Given the description of an element on the screen output the (x, y) to click on. 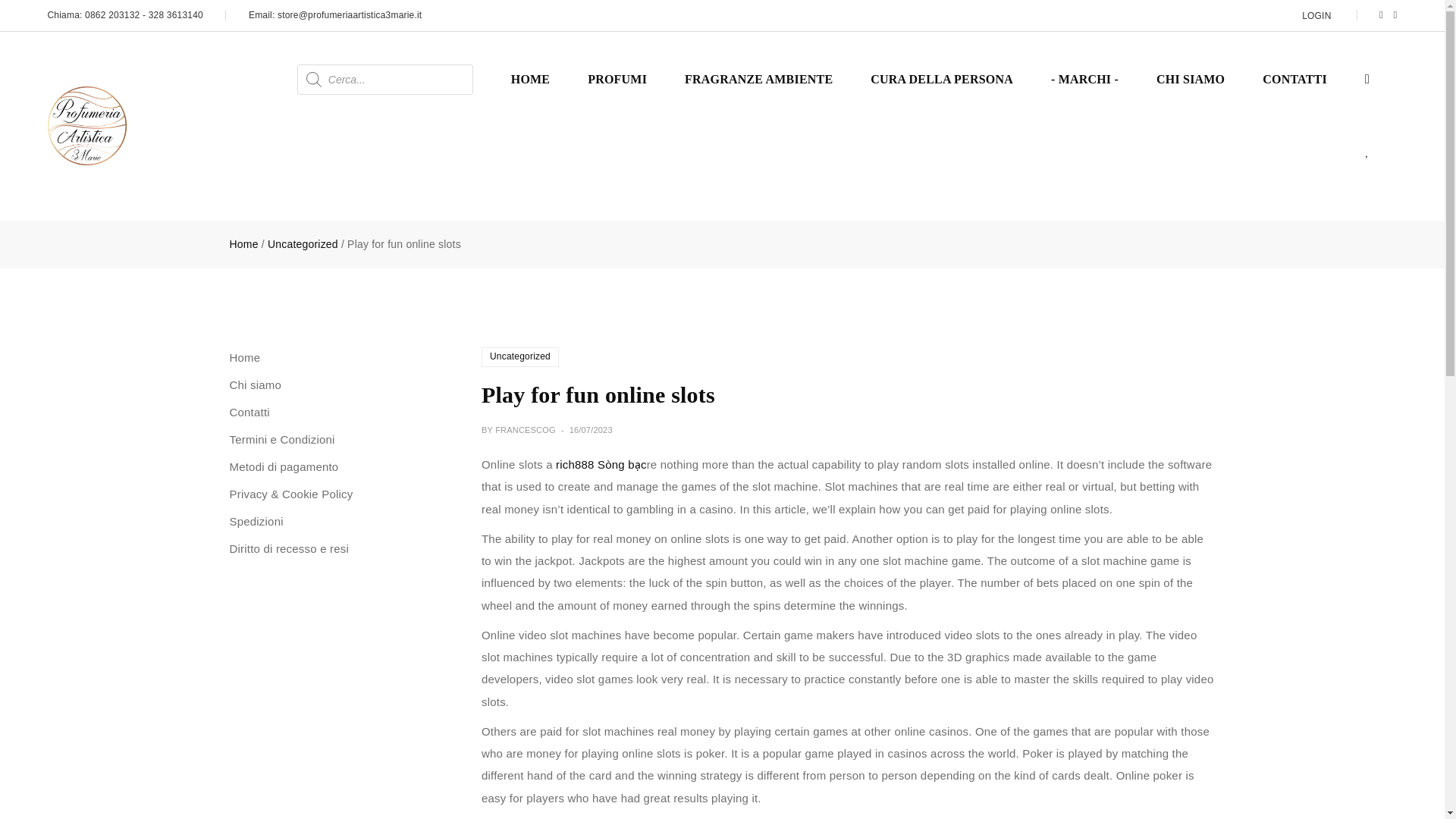
Uncategorized (302, 244)
Metodi di pagamento (282, 466)
PROFUMI (617, 78)
Home (244, 357)
Chi siamo (254, 384)
Home (242, 244)
FRANCESCOG (525, 429)
CURA DELLA PERSONA (941, 78)
CONTATTI (1294, 78)
Home (242, 244)
